Given the description of an element on the screen output the (x, y) to click on. 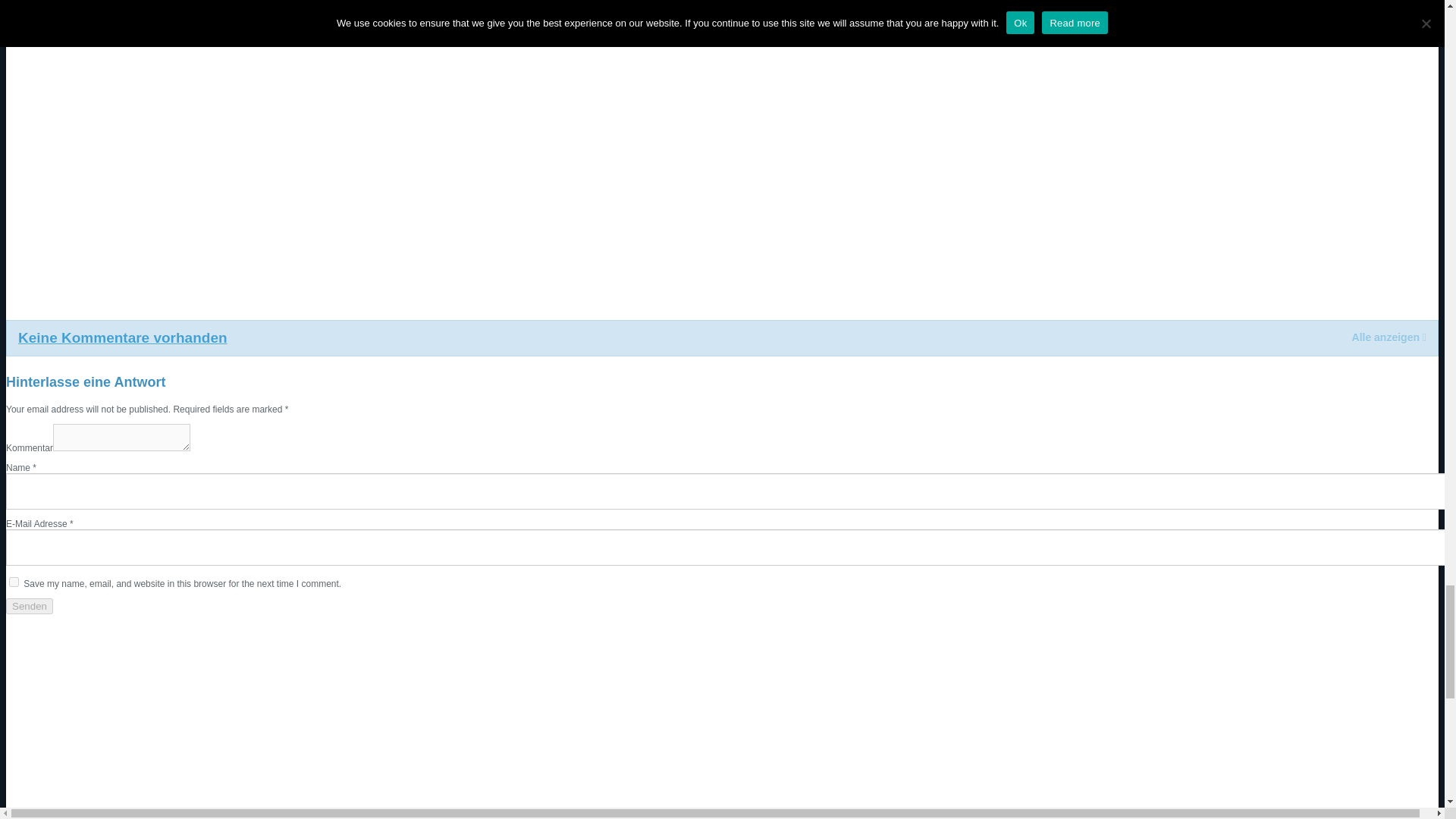
Senden (28, 606)
yes (13, 582)
